Given the description of an element on the screen output the (x, y) to click on. 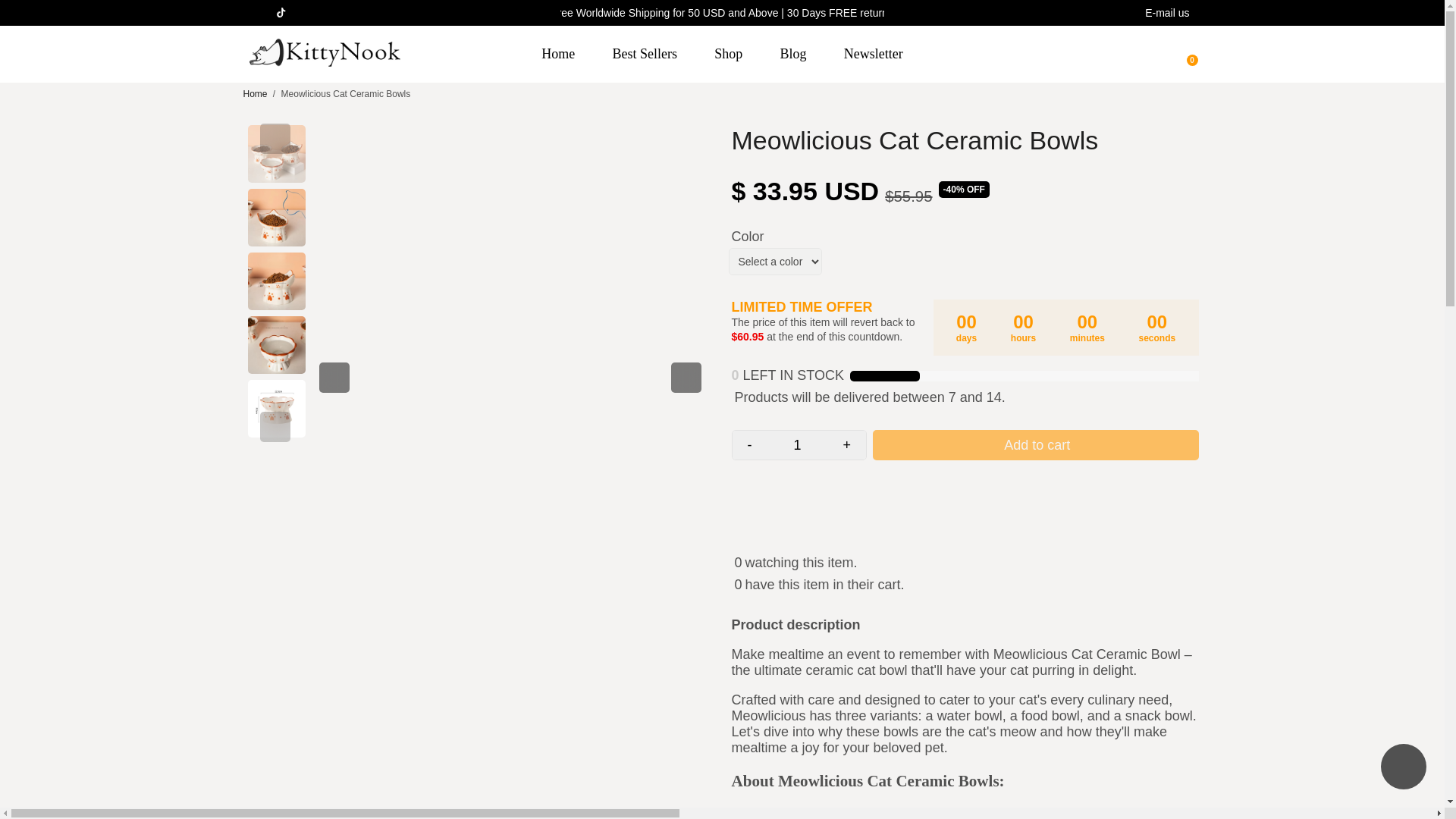
Home (254, 93)
Home (254, 93)
1 (797, 444)
Shop (727, 53)
Blog (793, 53)
Best Sellers (643, 53)
E-mail us (1166, 12)
Newsletter (873, 53)
Home (557, 53)
